Given the description of an element on the screen output the (x, y) to click on. 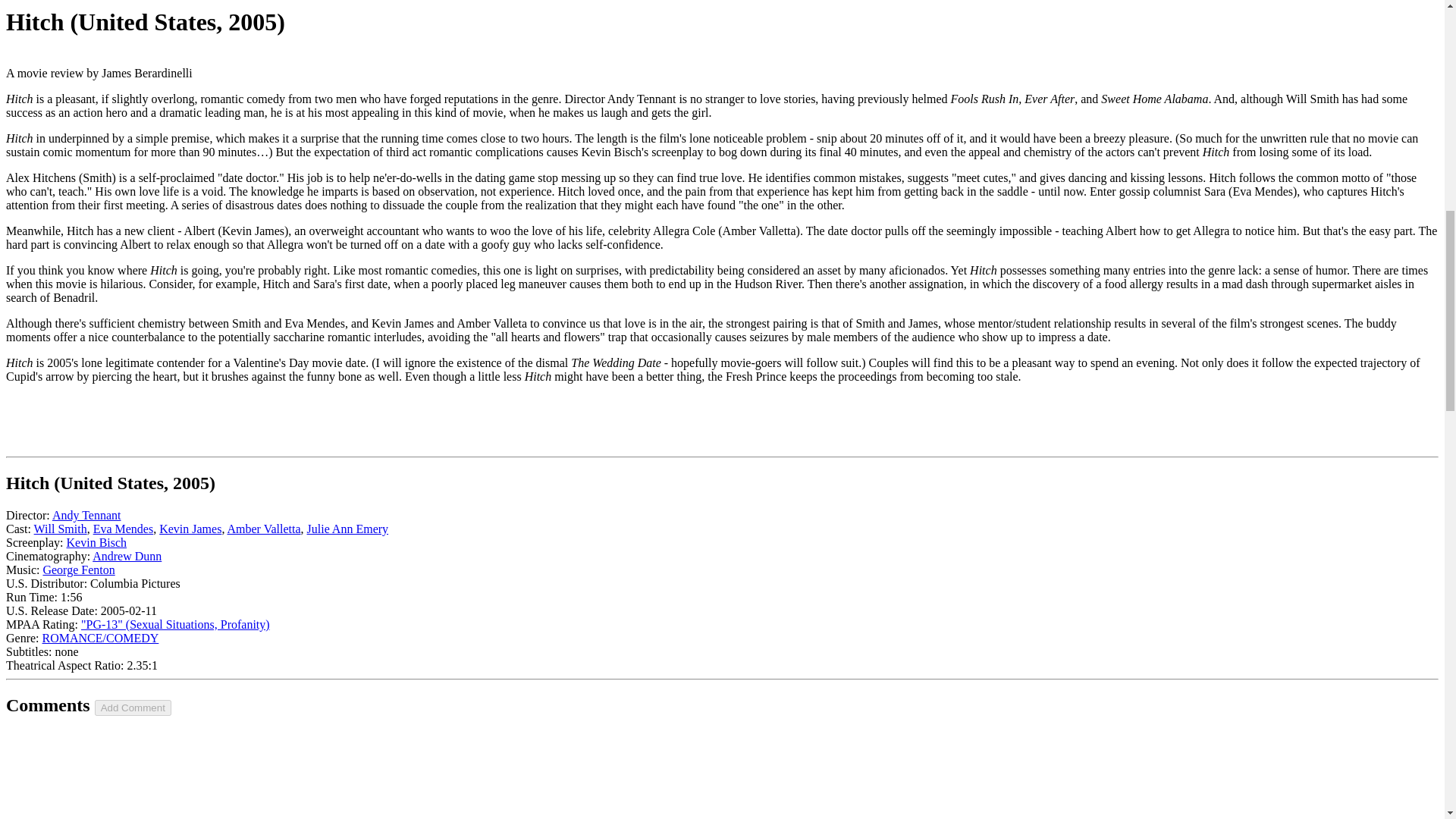
View all reviews for movies starring Kevin James (189, 528)
View all reviews for movies directed by Andy Tennant (86, 514)
Kevin James (189, 528)
Amber Valletta (264, 528)
ReelViews for movies with music written by George Fenton (78, 569)
Andrew Dunn (127, 555)
ReelViews for movies with cinematographer Andrew Dunn (127, 555)
George Fenton (78, 569)
View all reviews for movies starring Julie Ann Emery (347, 528)
Kevin Bisch (97, 542)
View all reviews for movies starring Amber Valletta (264, 528)
Add Comment (132, 707)
ReelViews for movies with screenplay written by Kevin Bisch (97, 542)
Eva Mendes (123, 528)
View all reviews for movies starring Will Smith (60, 528)
